Given the description of an element on the screen output the (x, y) to click on. 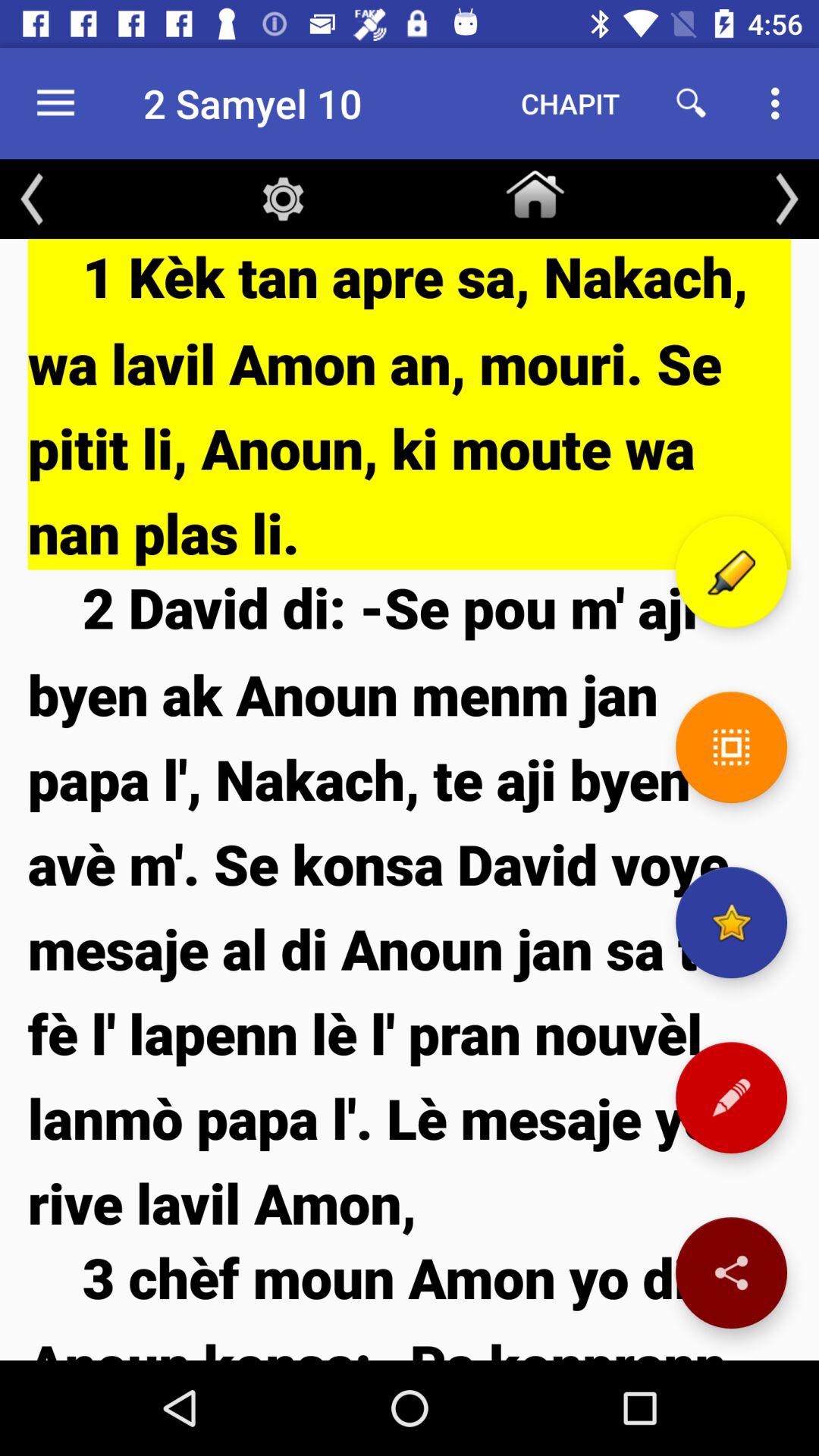
swipe to the chapit item (570, 103)
